Given the description of an element on the screen output the (x, y) to click on. 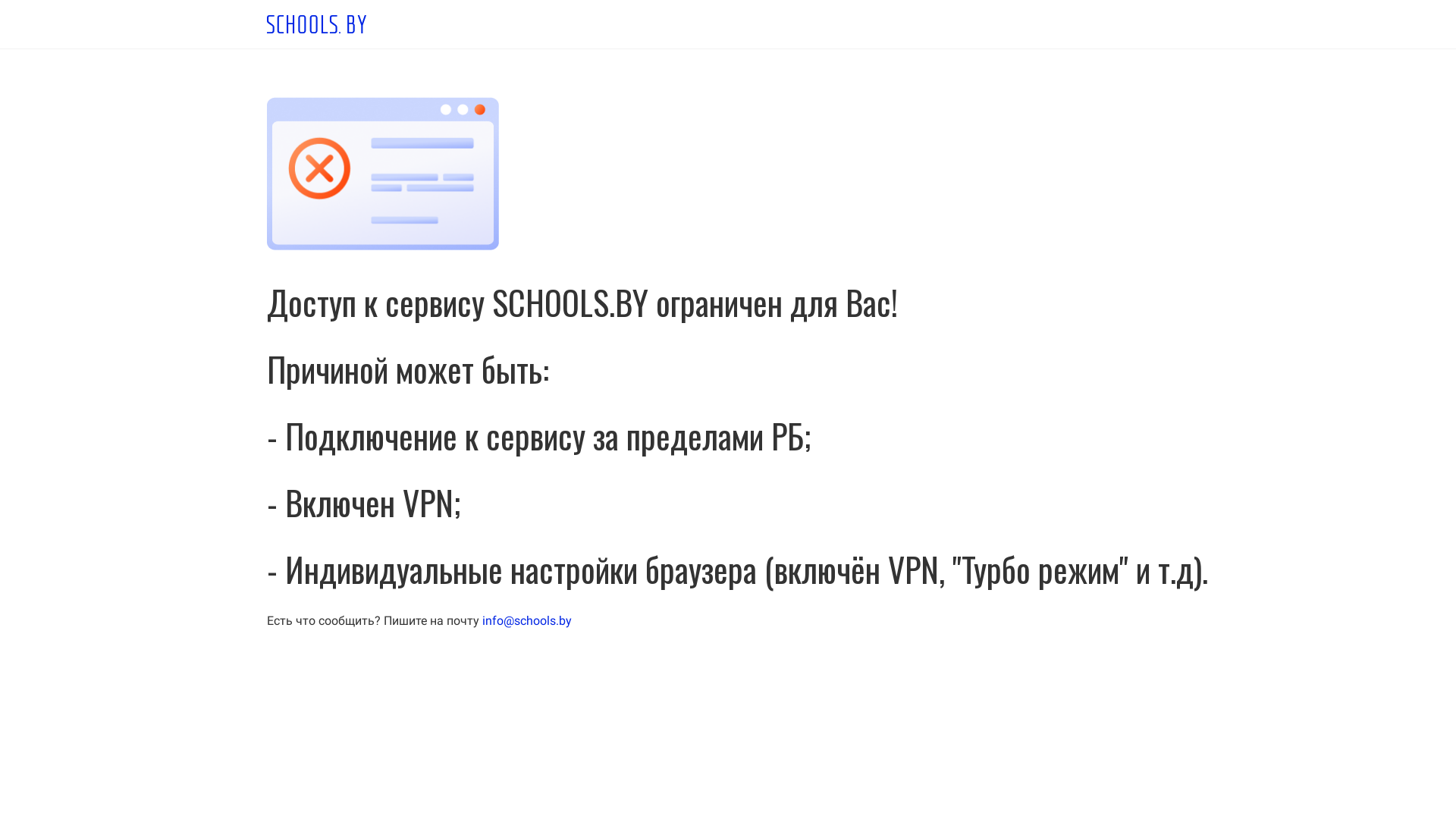
info@schools.by Element type: text (526, 620)
